Given the description of an element on the screen output the (x, y) to click on. 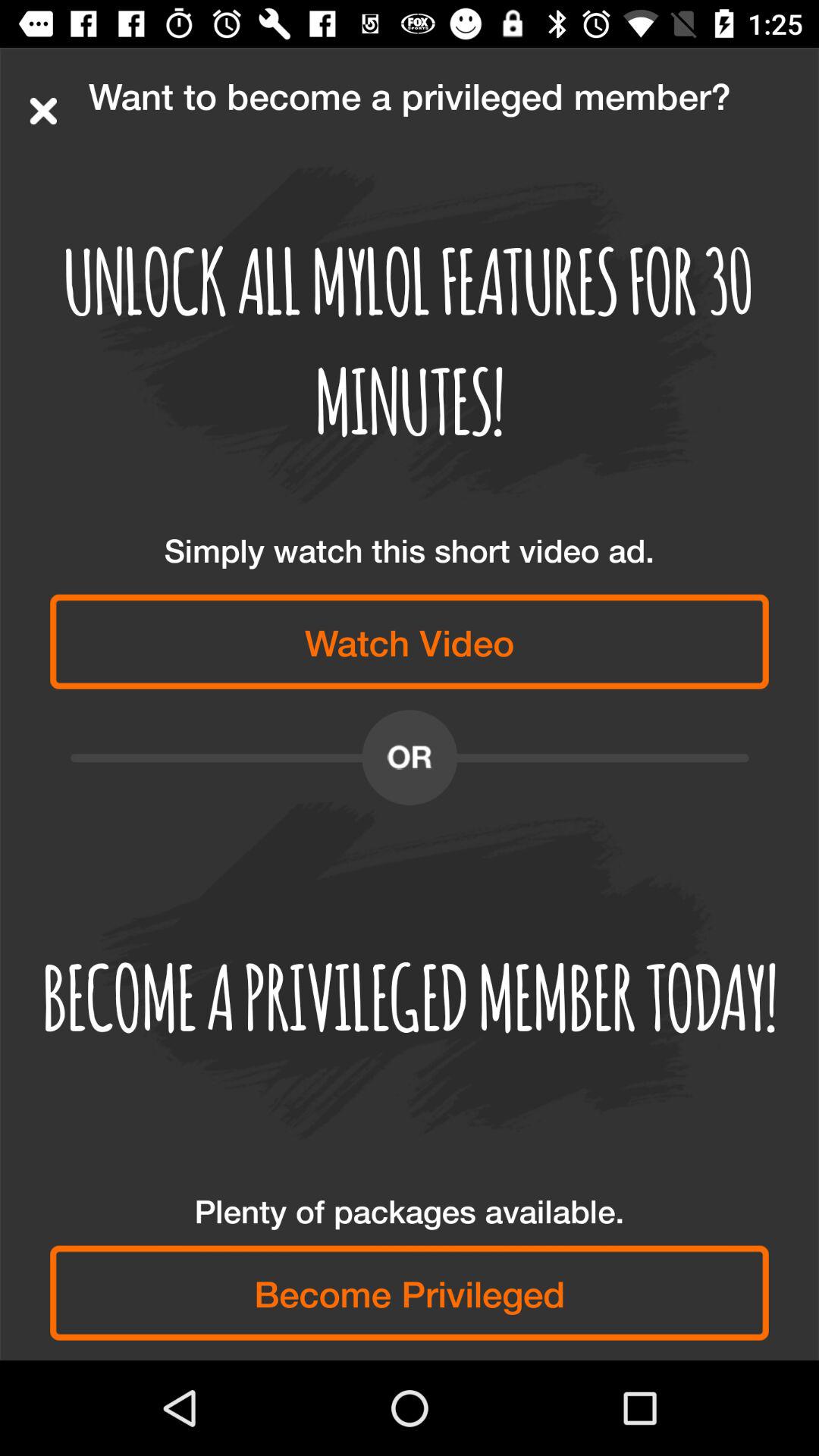
launch the icon at the top left corner (43, 110)
